Given the description of an element on the screen output the (x, y) to click on. 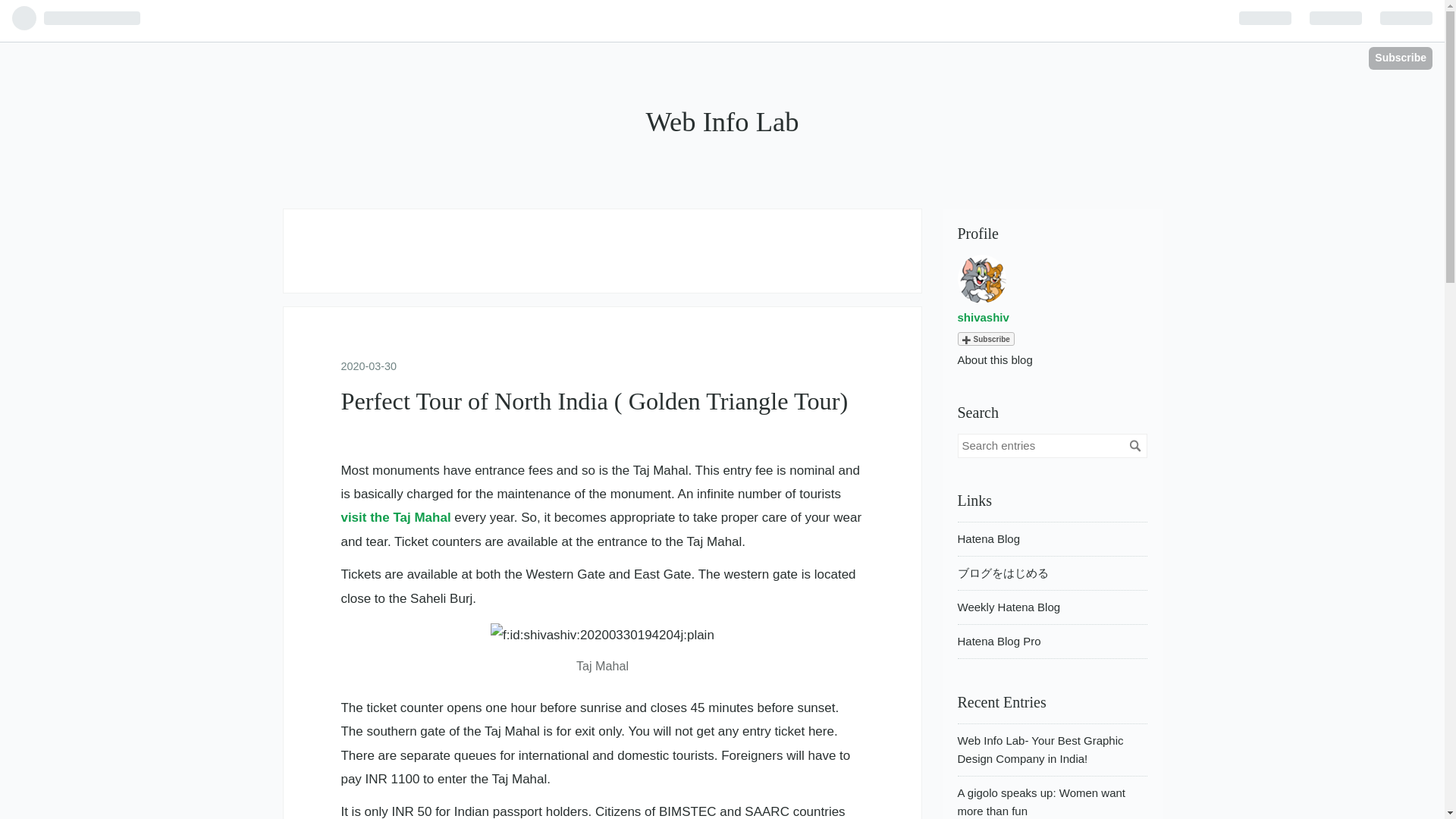
Taj Mahal (601, 650)
Search (1133, 445)
Web Info Lab- Your Best Graphic Design Company in India! (1039, 748)
2020-03-30 (368, 366)
Weekly Hatena Blog (1007, 606)
shivashiv (982, 317)
Hatena Blog Pro (998, 640)
Search (1133, 445)
Recent Entries (1000, 701)
Search (1133, 445)
